Given the description of an element on the screen output the (x, y) to click on. 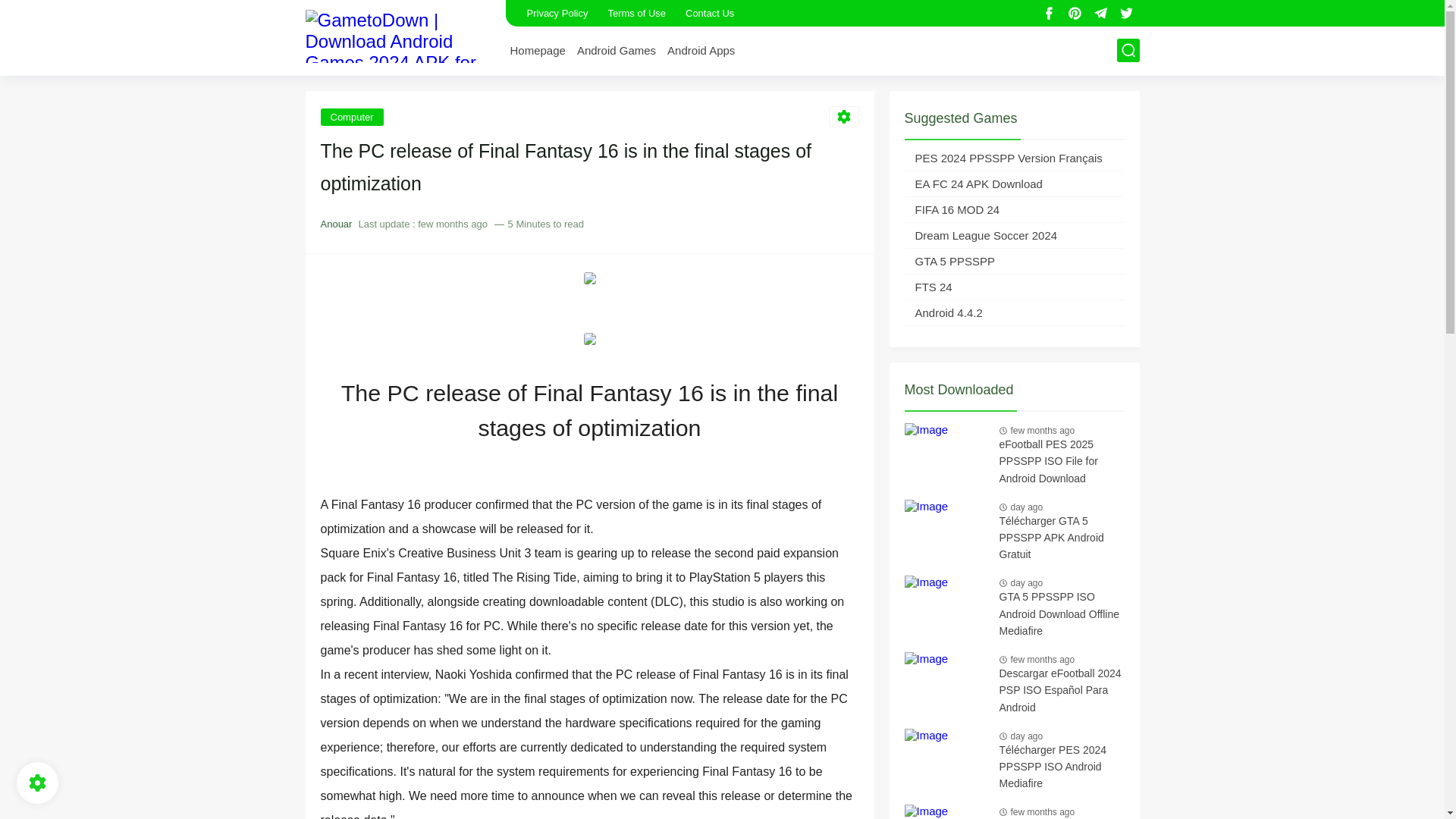
Android Games (616, 50)
twitter (1126, 13)
Contact Us (709, 12)
Android Games (616, 50)
Homepage (536, 50)
EA FC 24 APK Download (1014, 183)
Android Apps (700, 50)
Computer (351, 116)
Computer (351, 116)
Android Apps (700, 50)
Privacy Policy (556, 12)
facebook (1049, 13)
Terms of Use (636, 12)
Dream League Soccer 2024 (1014, 235)
telegram (1100, 13)
